Given the description of an element on the screen output the (x, y) to click on. 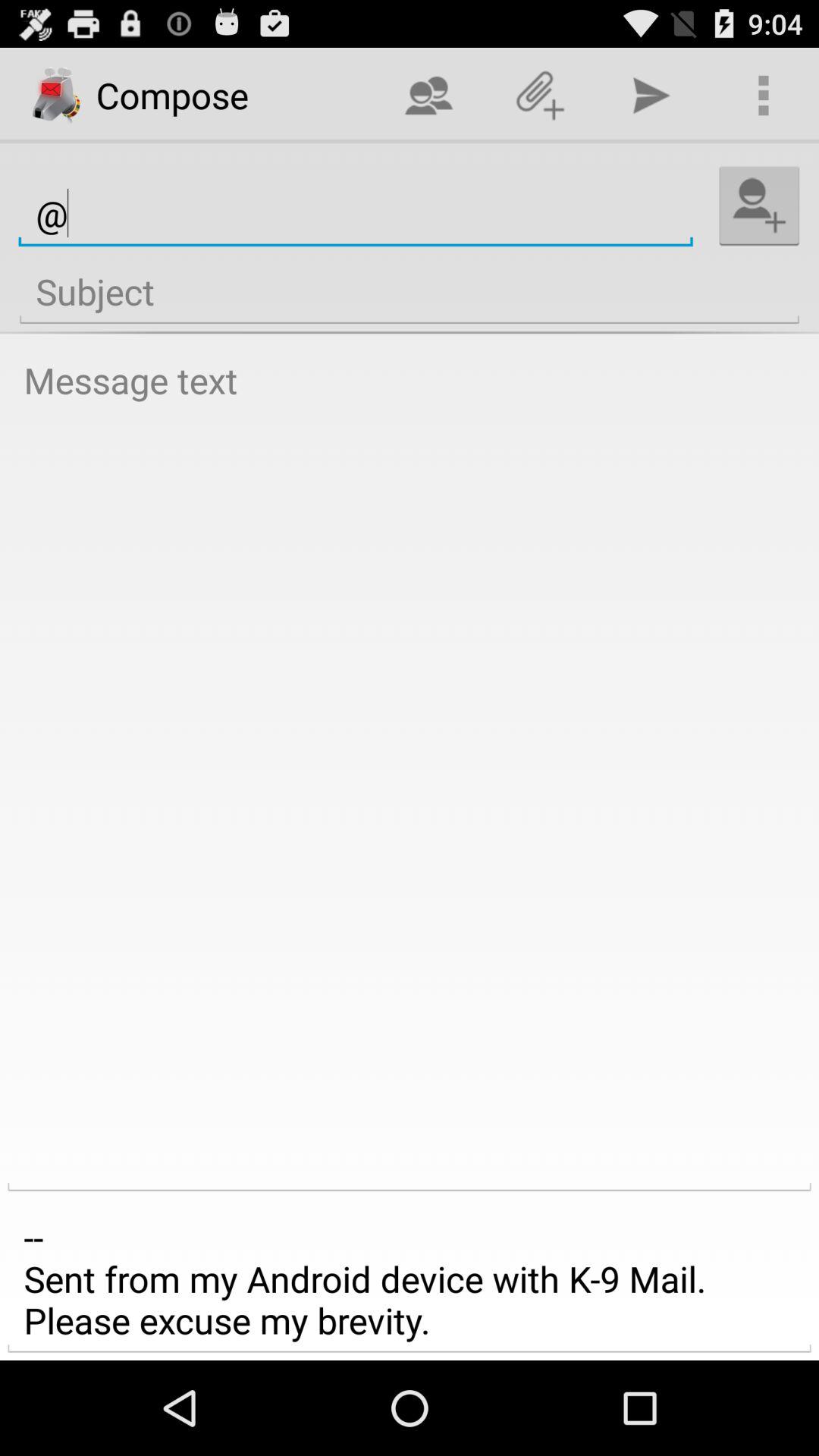
open sent from my icon (409, 1279)
